Given the description of an element on the screen output the (x, y) to click on. 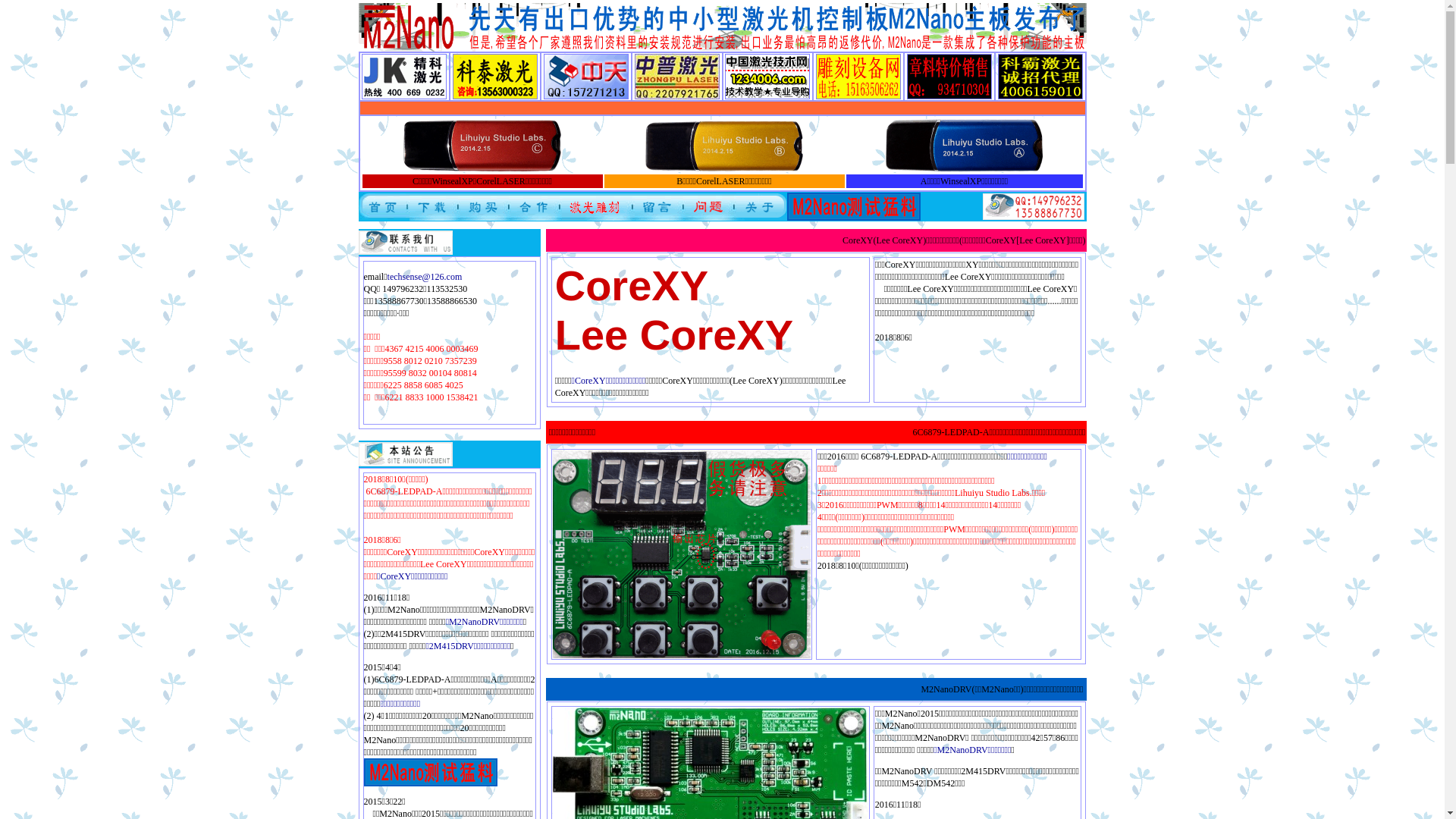
techsense@126.com Element type: text (424, 276)
